Given the description of an element on the screen output the (x, y) to click on. 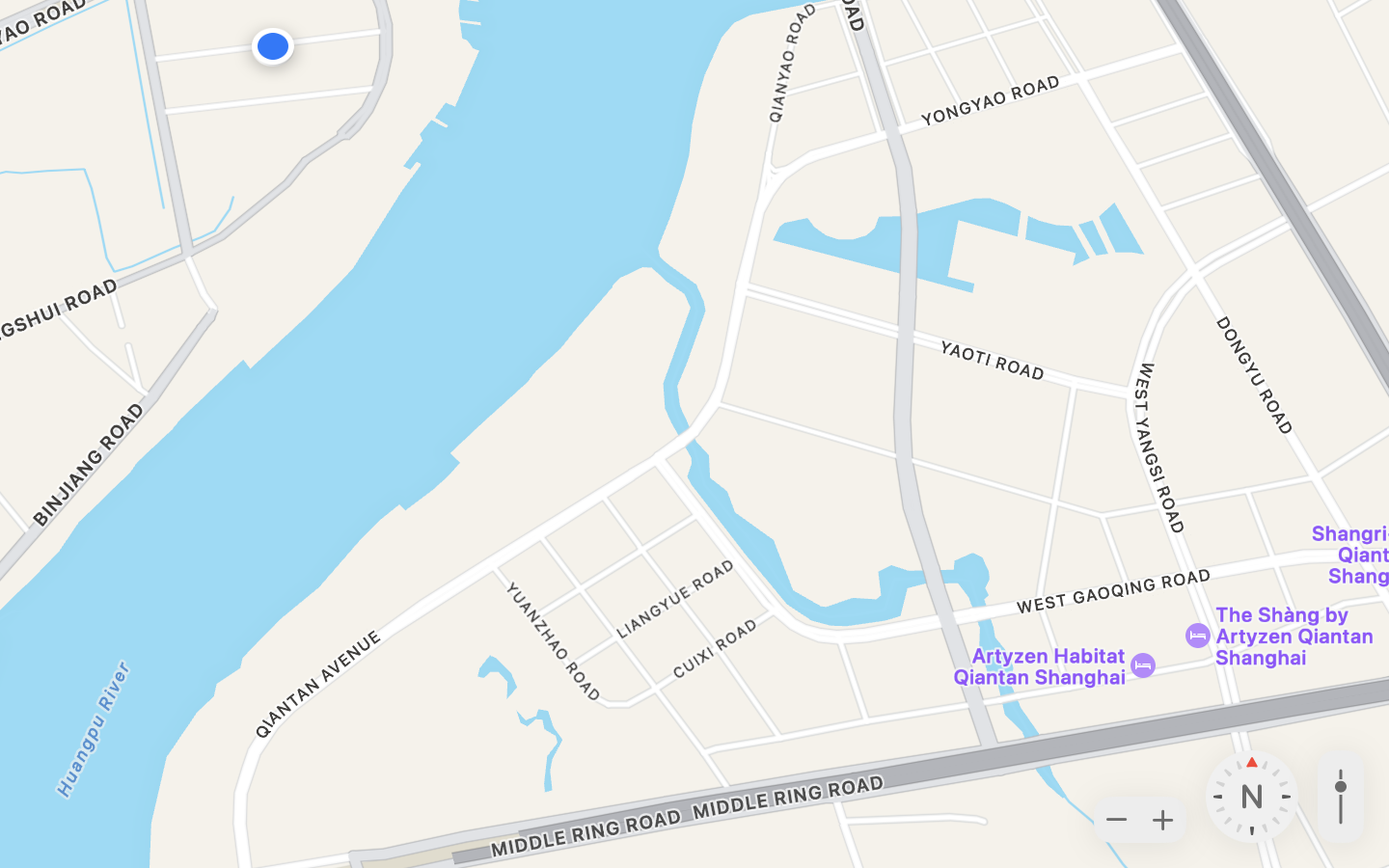
0.6666667461395264 Element type: AXSlider (1340, 796)
Heading: 0 degrees North Element type: AXButton (1251, 796)
